Given the description of an element on the screen output the (x, y) to click on. 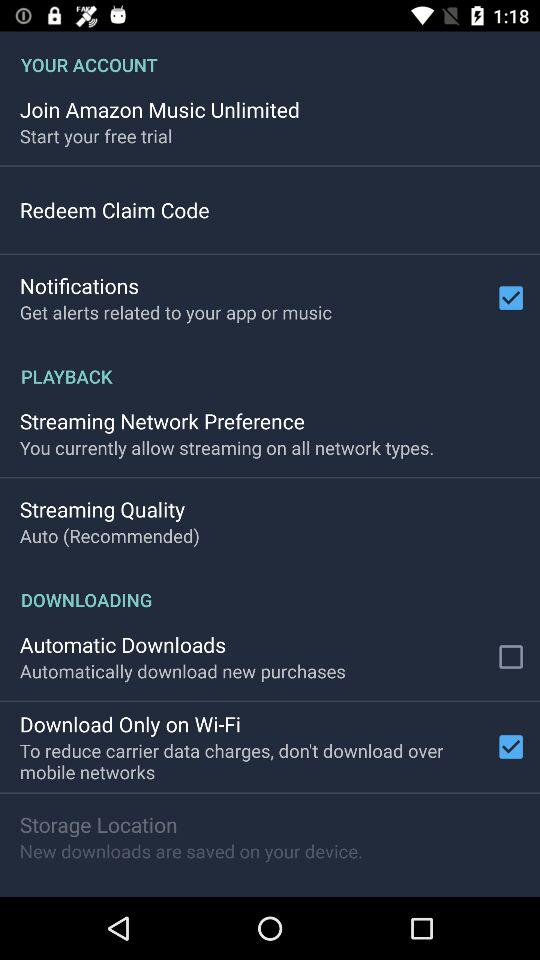
jump until playback app (270, 365)
